Given the description of an element on the screen output the (x, y) to click on. 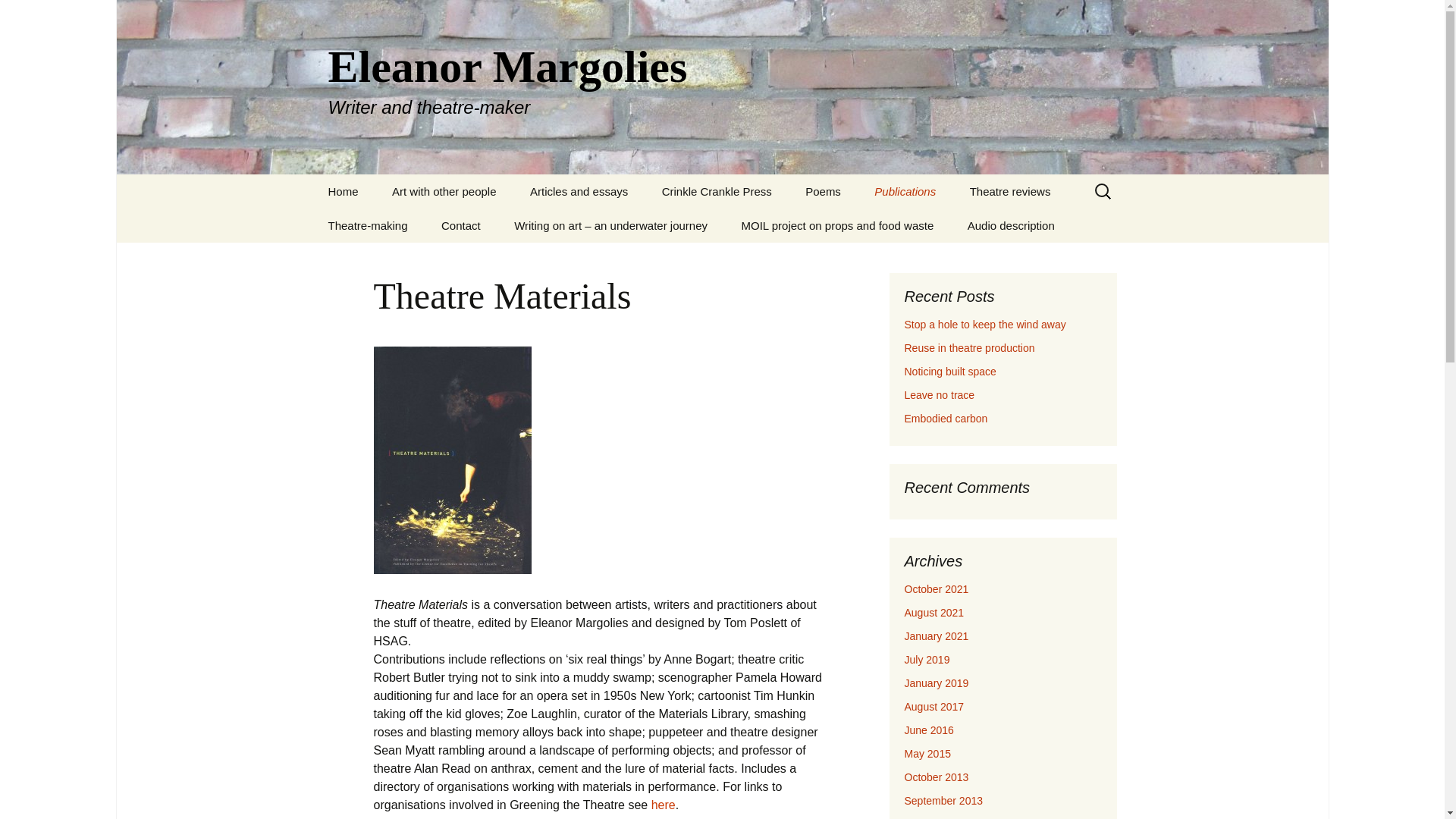
Home (933, 612)
Search (342, 191)
Chemical Construction Kit (18, 15)
Theatre-making (452, 230)
here (367, 225)
Articles and essays (662, 804)
Culture and Climate Change: Recordings (579, 191)
Contact (934, 230)
Audio description (461, 225)
Crinkle Crankle Press (1011, 225)
Leave no trace (716, 191)
Art with other people (939, 395)
October 2021 (444, 191)
